Given the description of an element on the screen output the (x, y) to click on. 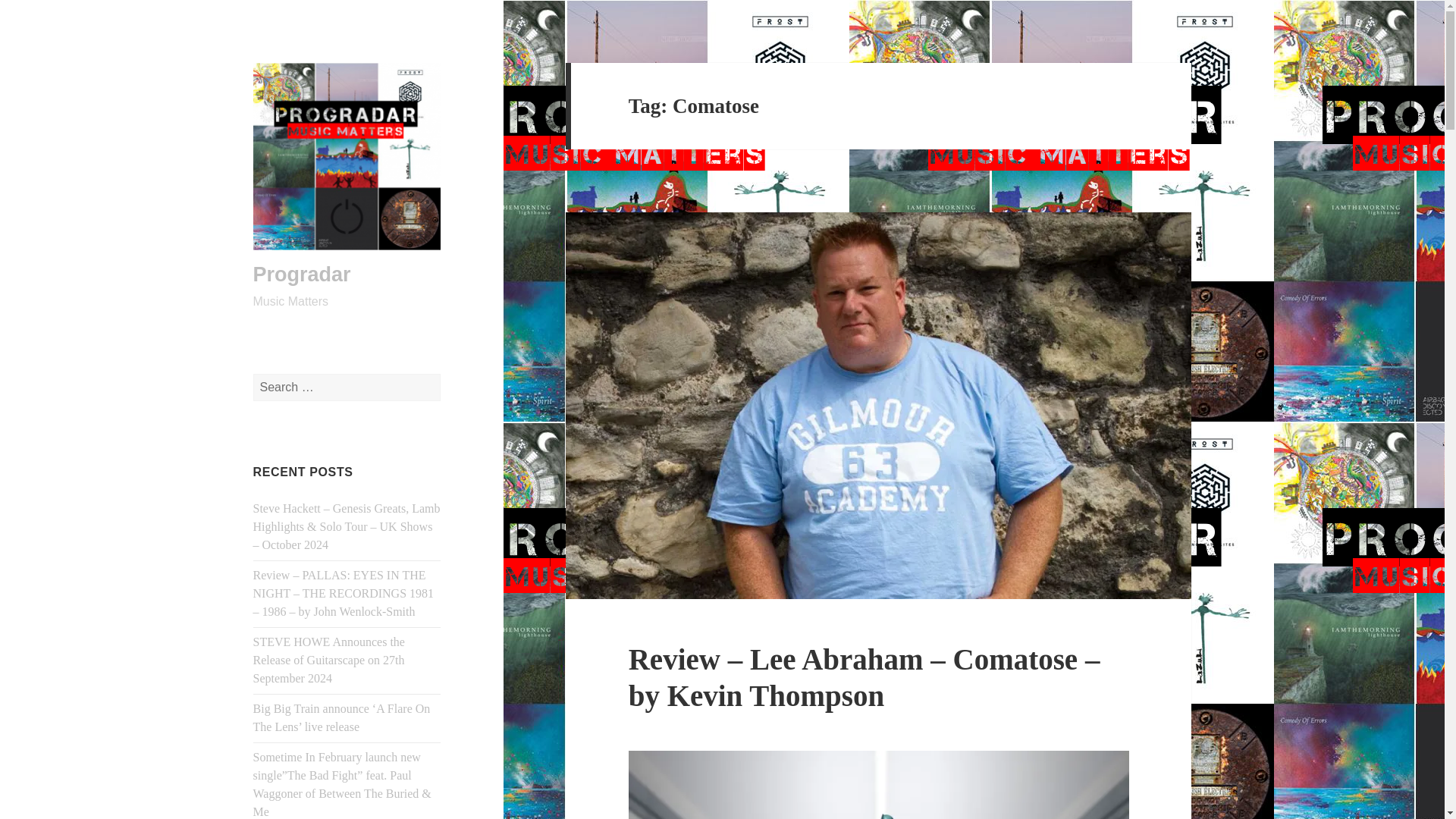
Progradar (301, 273)
